Given the description of an element on the screen output the (x, y) to click on. 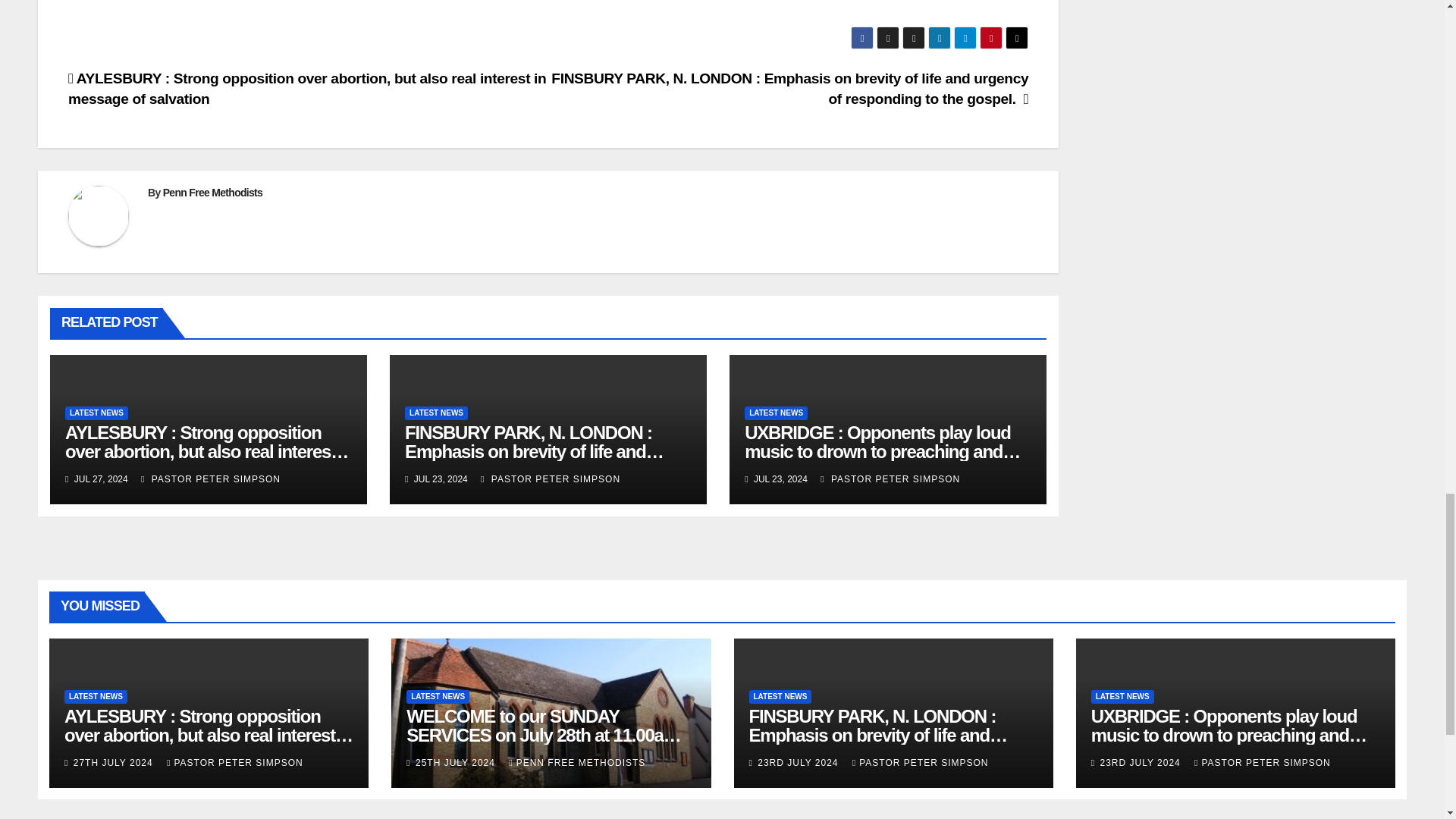
PASTOR PETER SIMPSON (211, 479)
Penn Free Methodists (212, 192)
LATEST NEWS (96, 413)
LATEST NEWS (435, 413)
